Given the description of an element on the screen output the (x, y) to click on. 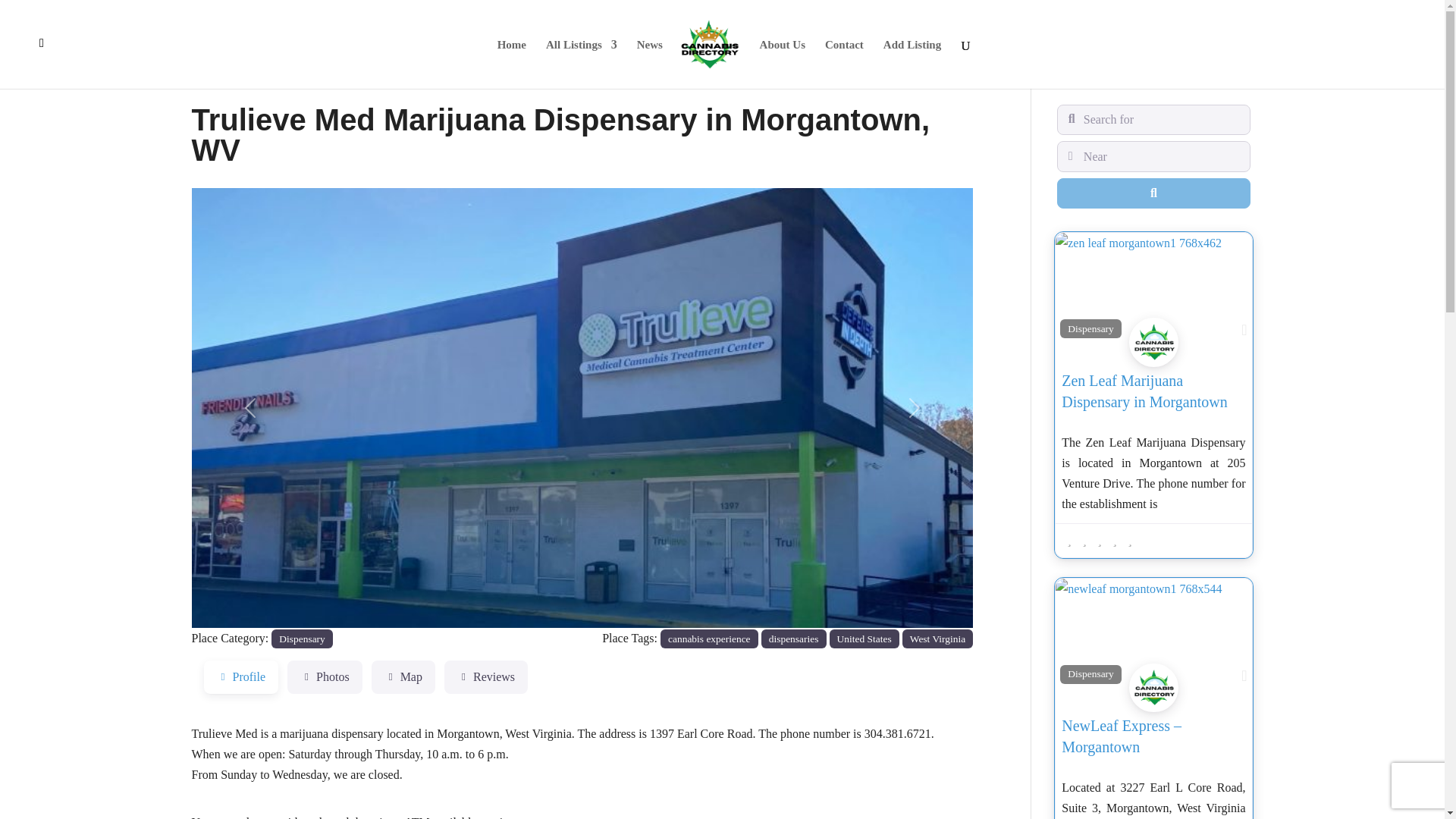
About Us (782, 63)
cannabis experience (709, 638)
Map (403, 676)
Profile (240, 676)
Add Listing (911, 63)
dispensaries (794, 638)
Dispensary (301, 638)
Photos (324, 676)
West Virginia (938, 638)
All Listings (581, 63)
Photos (324, 676)
Map (403, 676)
Profile (240, 676)
Reviews (485, 676)
United States (864, 638)
